Given the description of an element on the screen output the (x, y) to click on. 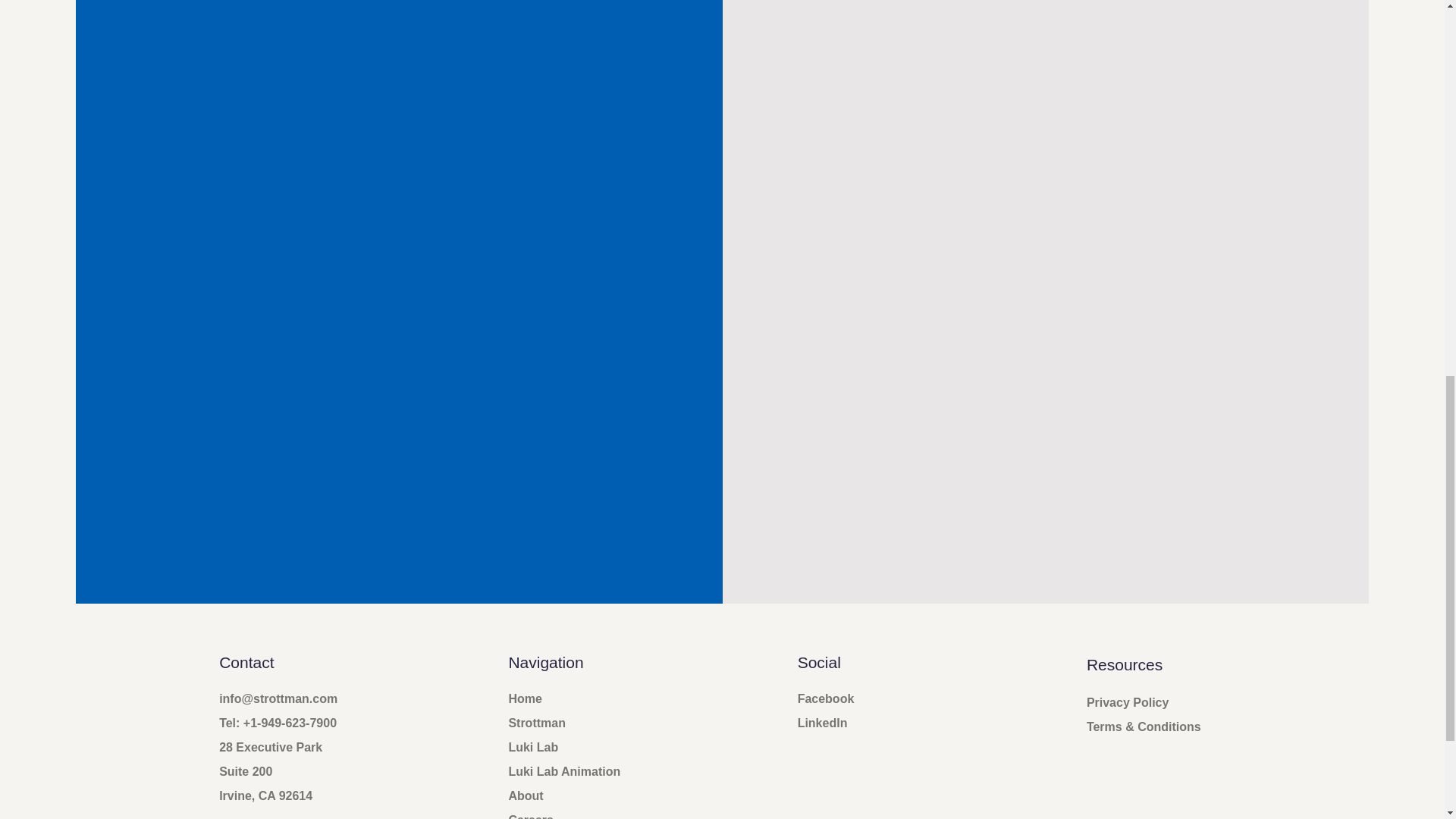
Facebook (825, 698)
Strottman (537, 722)
About (525, 795)
LinkedIn (822, 722)
Home (524, 698)
Careers (530, 816)
Luki Lab (532, 747)
Luki Lab Animation (564, 771)
Privacy Policy (1127, 702)
